Given the description of an element on the screen output the (x, y) to click on. 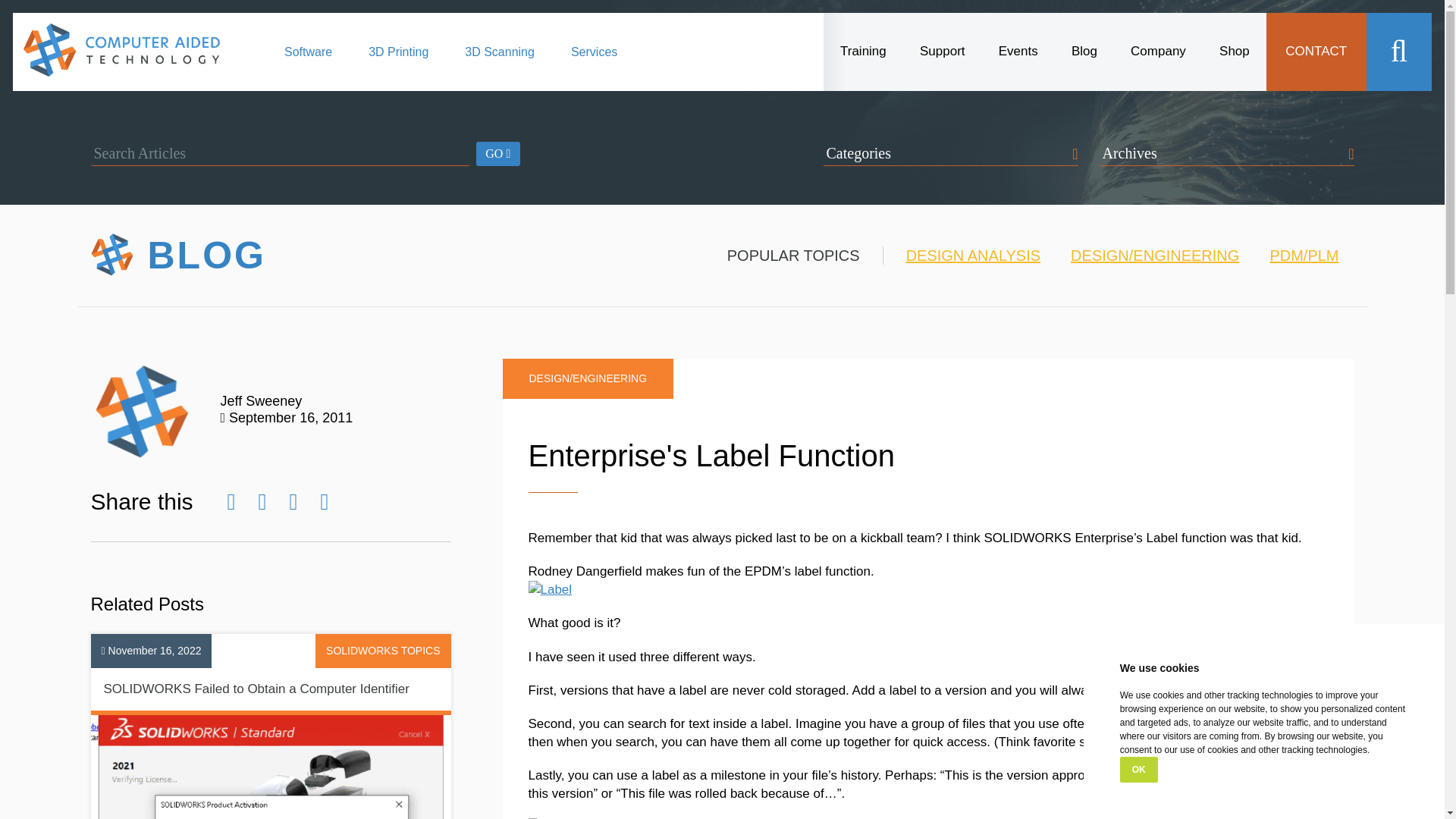
Software (308, 60)
Label (549, 589)
OK (1138, 769)
